Given the description of an element on the screen output the (x, y) to click on. 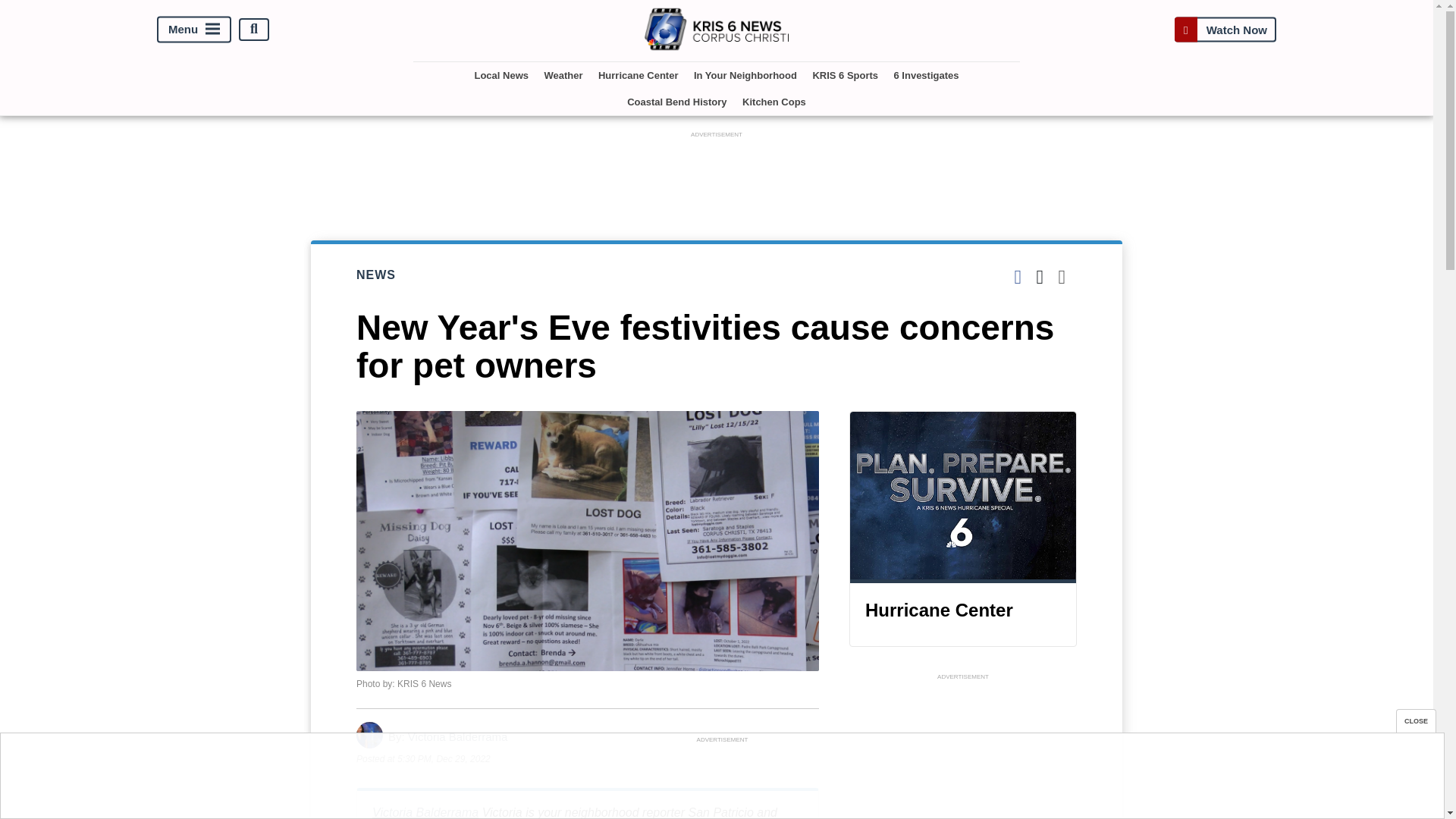
Menu (194, 28)
3rd party ad content (962, 751)
Watch Now (1224, 29)
3rd party ad content (716, 175)
3rd party ad content (721, 780)
